Given the description of an element on the screen output the (x, y) to click on. 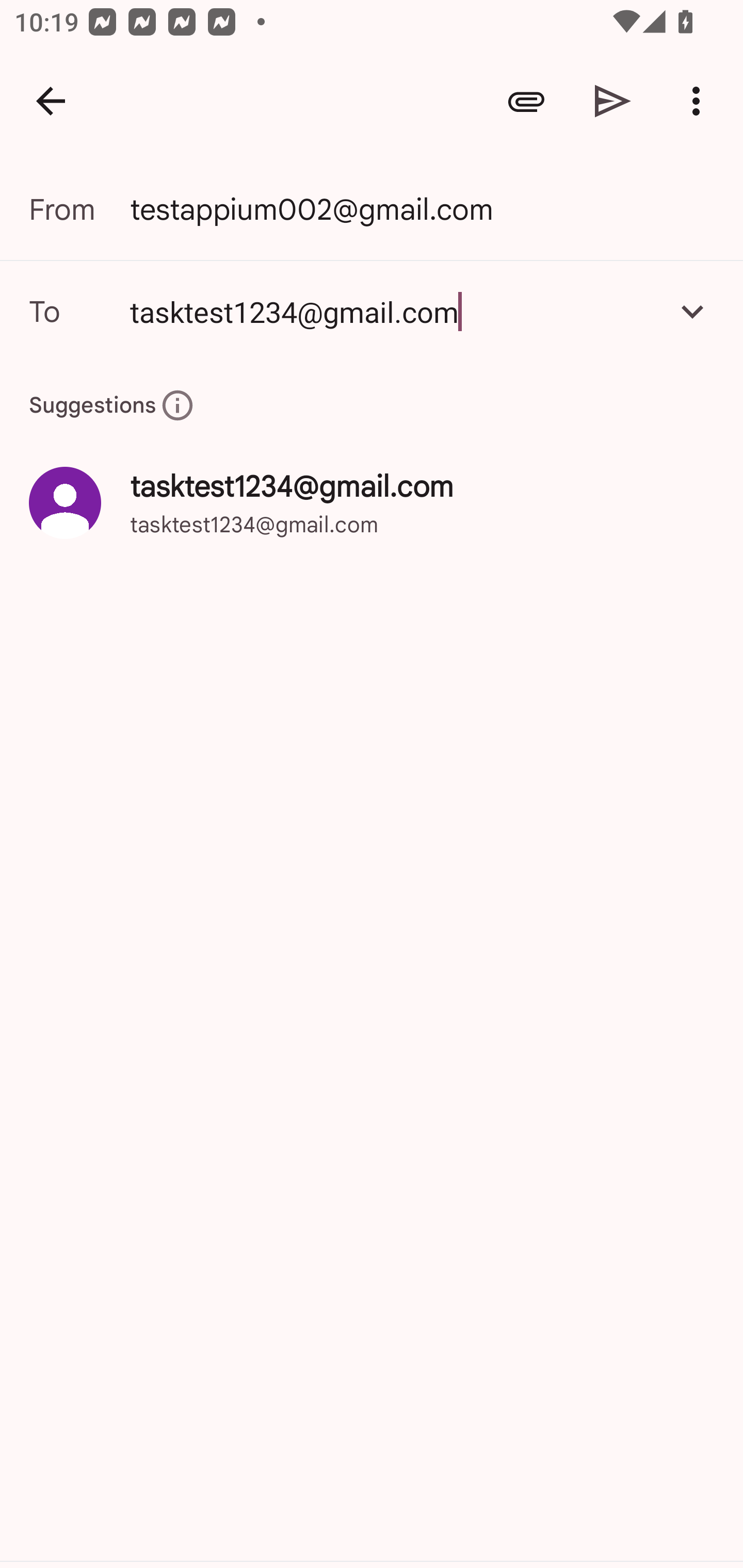
Navigate up (50, 101)
Attach file (525, 101)
Send (612, 101)
More options (699, 101)
From (79, 209)
Add Cc/Bcc (692, 311)
tasktest1234@gmail.com (371, 311)
tasktest1234@gmail.com (393, 311)
